Given the description of an element on the screen output the (x, y) to click on. 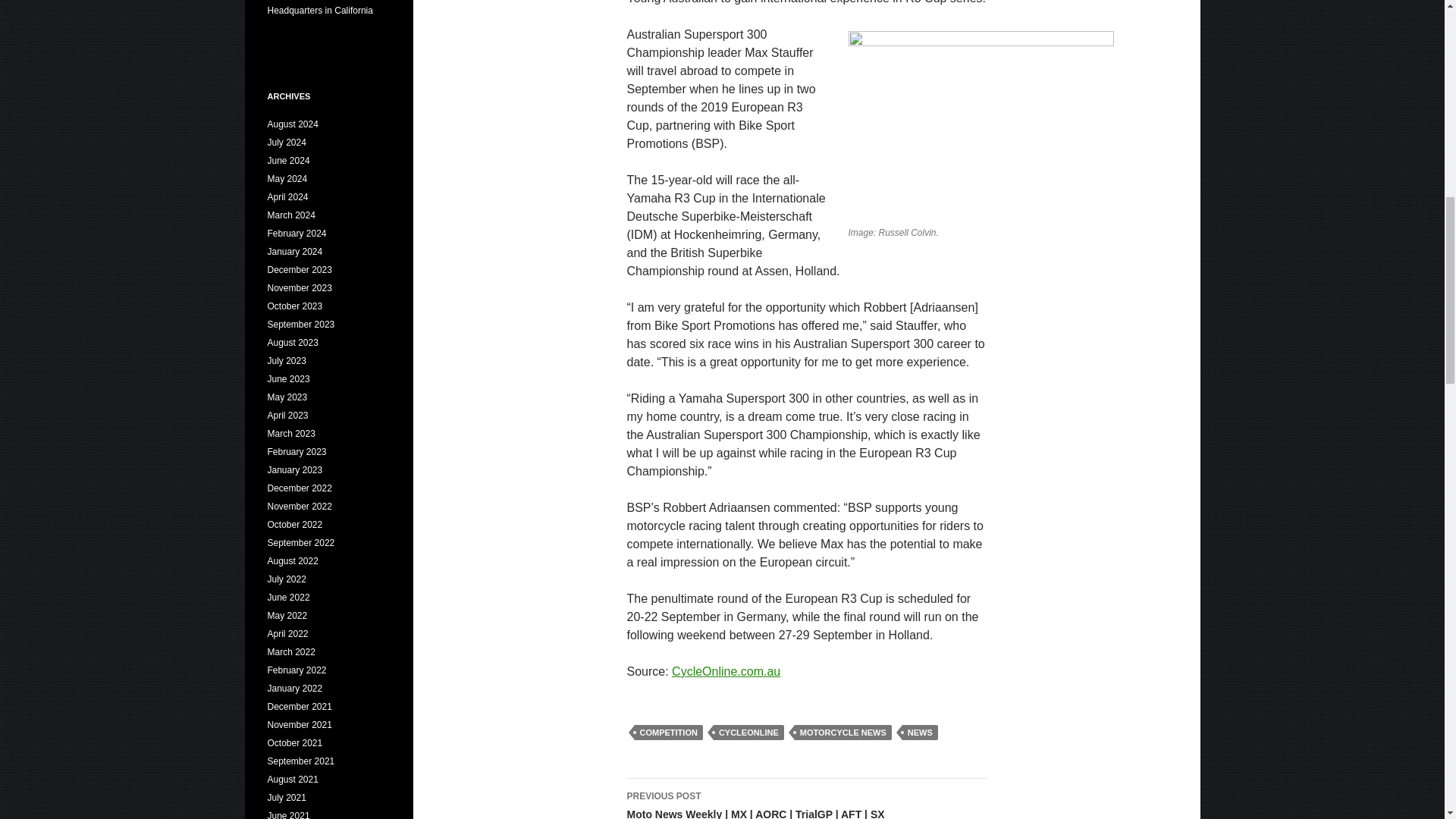
July 2024 (285, 142)
COMPETITION (667, 732)
MOTORCYCLE NEWS (842, 732)
June 2024 (287, 160)
CycleOnline.com.au (725, 671)
CYCLEONLINE (748, 732)
NEWS (919, 732)
August 2024 (291, 123)
